Given the description of an element on the screen output the (x, y) to click on. 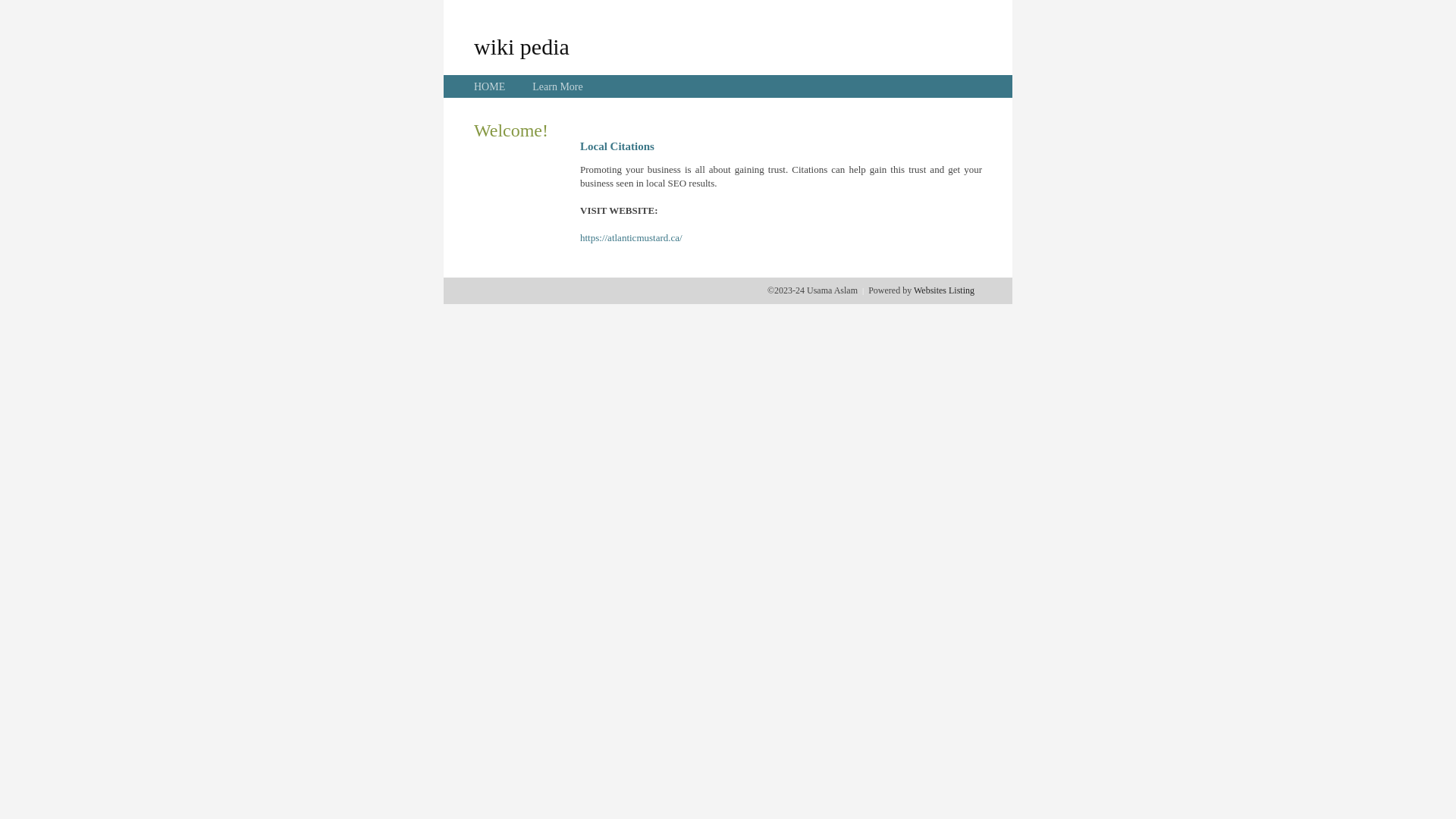
https://atlanticmustard.ca/ Element type: text (631, 237)
Websites Listing Element type: text (943, 290)
wiki pedia Element type: text (521, 46)
HOME Element type: text (489, 86)
Learn More Element type: text (557, 86)
